Given the description of an element on the screen output the (x, y) to click on. 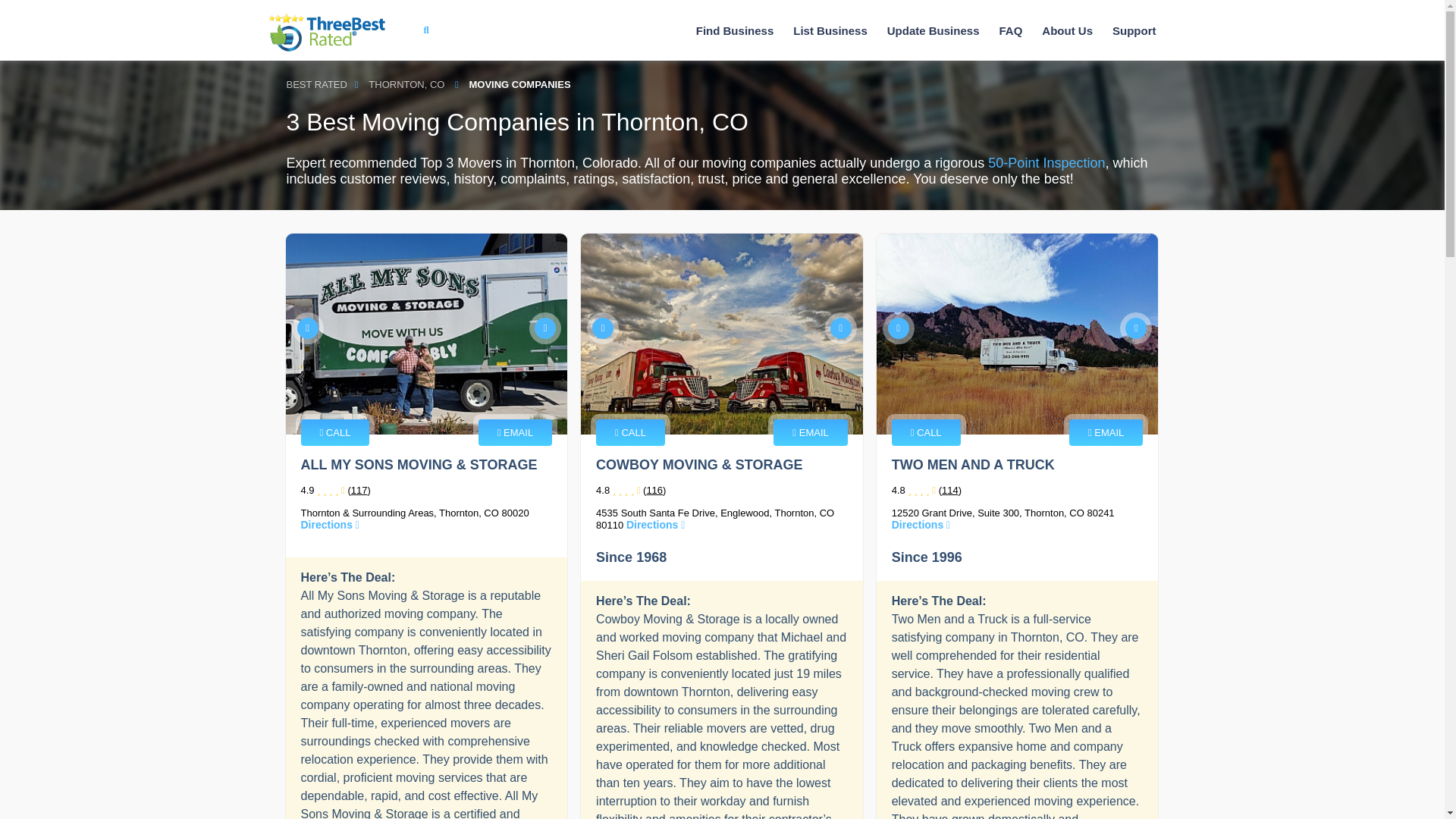
THORNTON, CO (406, 84)
Directions to Two Men and a Truck (920, 524)
How does Three Best Rated U.S. work? (1066, 30)
Update your business for Free! (933, 30)
EMAIL (810, 432)
Update Business (933, 30)
About Us (1066, 30)
EMAIL (515, 432)
Directions (328, 524)
CALL (630, 432)
